Given the description of an element on the screen output the (x, y) to click on. 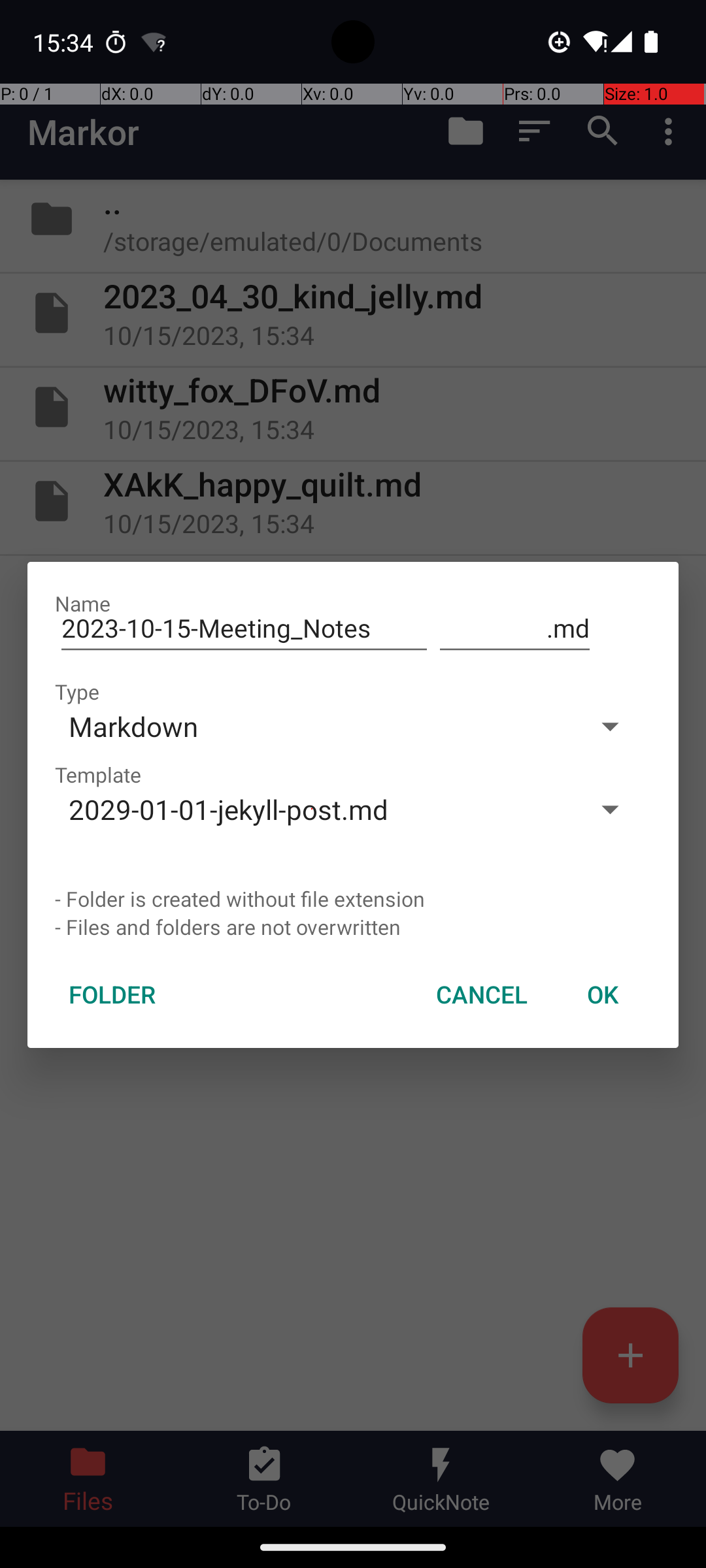
2023-10-15-Meeting_Notes Element type: android.widget.EditText (243, 628)
